Given the description of an element on the screen output the (x, y) to click on. 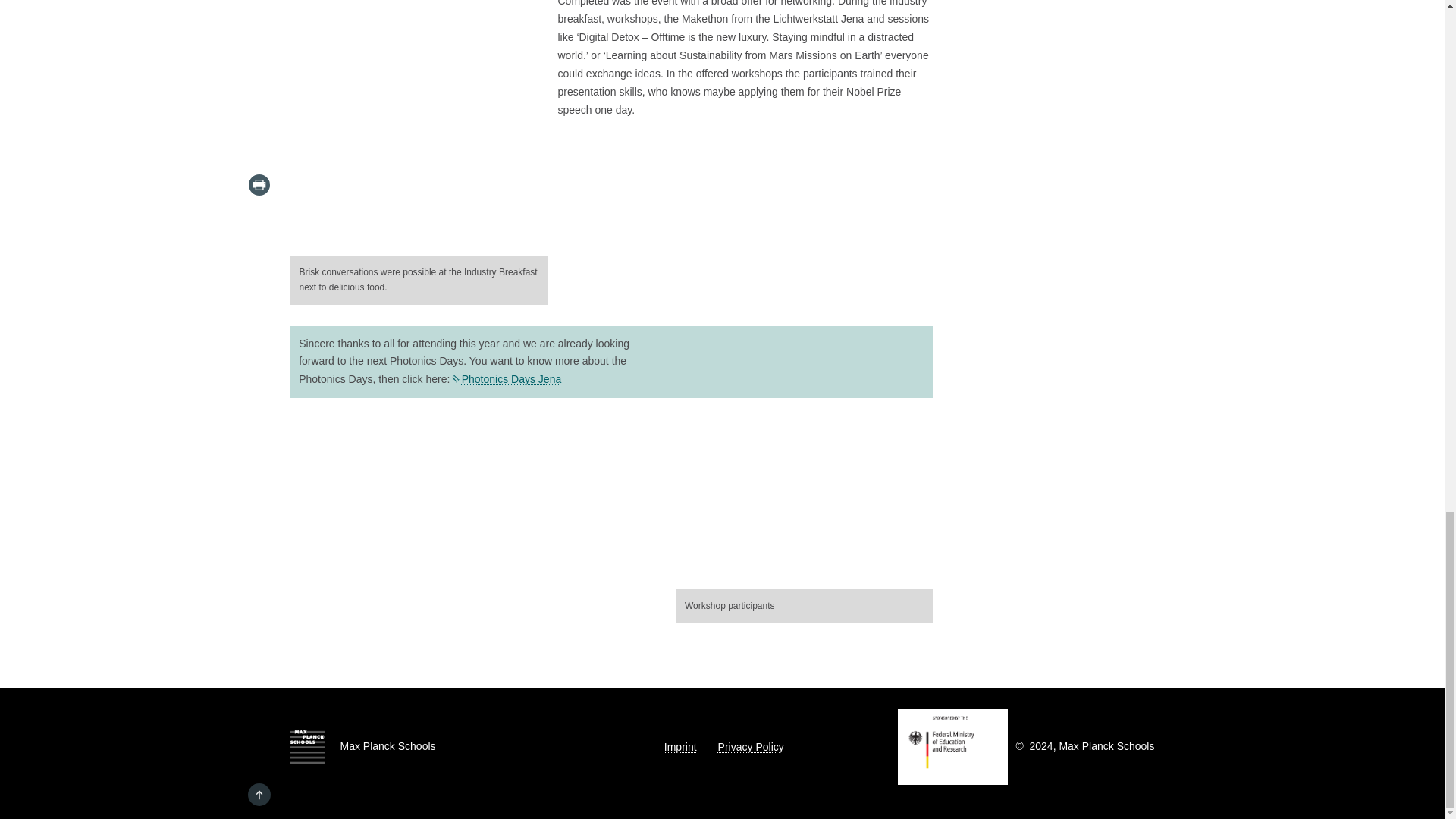
Workshop participants (804, 454)
opens zoom view (418, 127)
opens zoom view (804, 456)
opens zoom view (533, 244)
opens zoom view (919, 577)
